Given the description of an element on the screen output the (x, y) to click on. 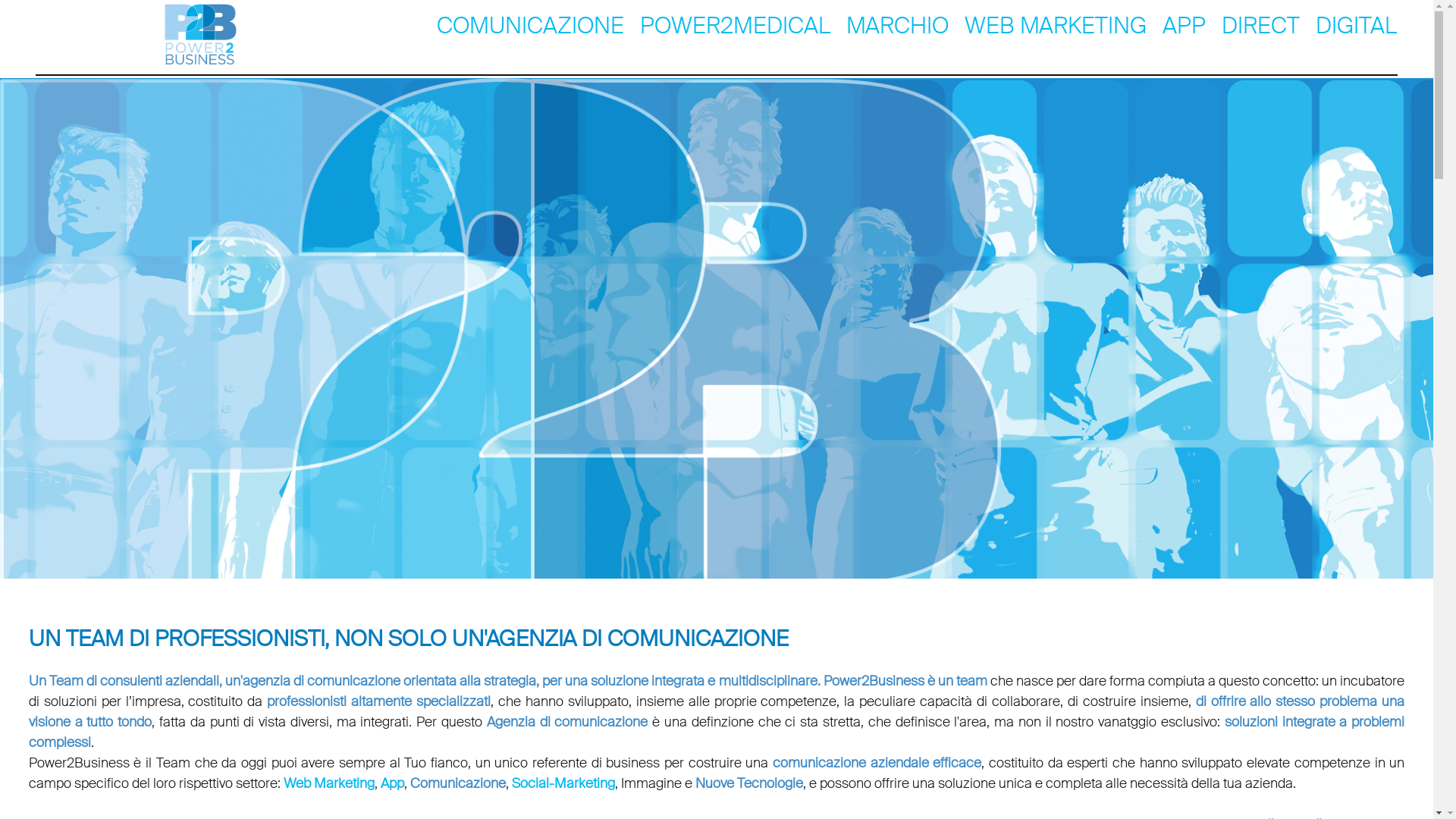
APP Element type: text (1183, 23)
POWER2MEDICAL Element type: text (734, 23)
WEB MARKETING Element type: text (1055, 23)
DIGITAL Element type: text (1356, 23)
Web Marketing Element type: text (328, 783)
App Element type: text (392, 783)
COMUNICAZIONE Element type: text (530, 23)
DIRECT Element type: text (1260, 23)
Power 2 Business Element type: hover (200, 33)
Social-Marketing Element type: text (563, 783)
MARCHIO Element type: text (897, 23)
